Given the description of an element on the screen output the (x, y) to click on. 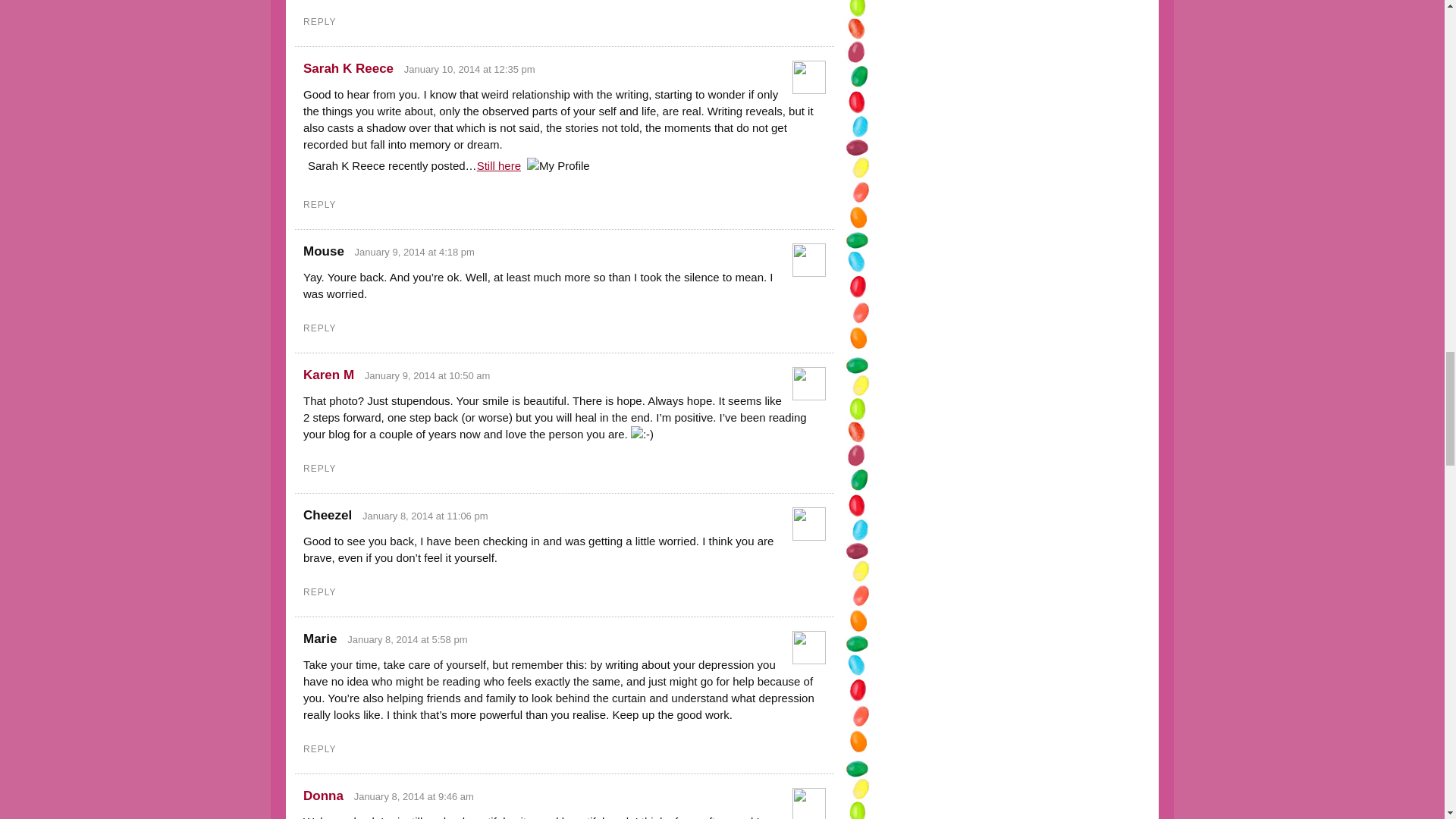
Still here (499, 164)
Permalink to this comment (407, 639)
January 10, 2014 at 12:35 pm (469, 69)
REPLY (319, 327)
REPLY (319, 468)
Permalink to this comment (427, 375)
January 8, 2014 at 11:06 pm (424, 515)
Sarah K Reece (347, 68)
January 9, 2014 at 4:18 pm (414, 251)
January 9, 2014 at 10:50 am (427, 375)
